Given the description of an element on the screen output the (x, y) to click on. 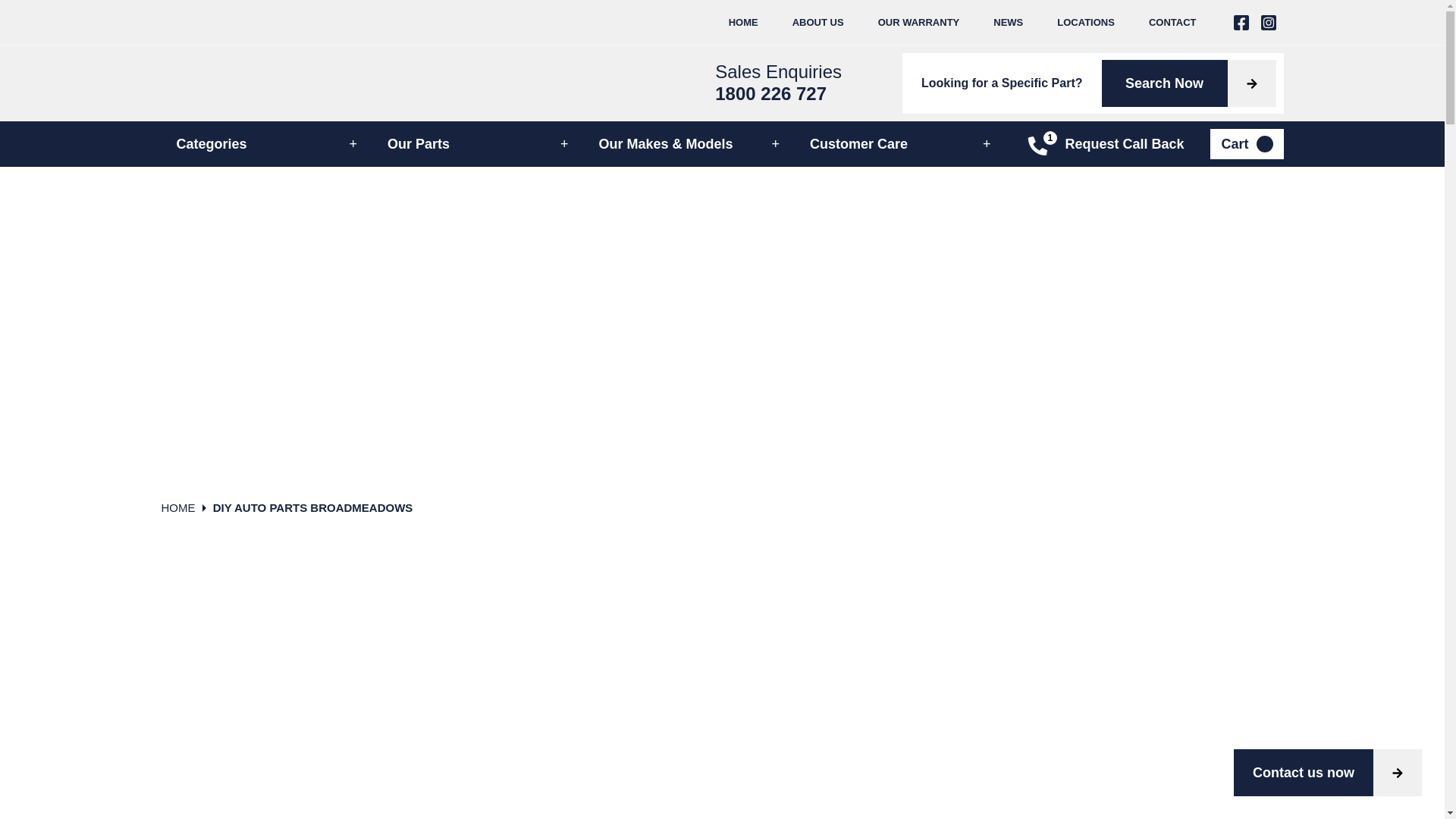
CONTACT Element type: text (1172, 22)
Sales Enquiries
1800 226 727 Element type: text (778, 83)
HOME Element type: text (743, 22)
Looking for a Specific Part? Element type: text (1001, 82)
Customer Care Element type: text (900, 143)
Search Now Element type: text (1188, 82)
Our Parts Element type: text (477, 143)
LOCATIONS Element type: text (1085, 22)
HOME Element type: text (182, 507)
ACM Parts Element type: hover (199, 83)
NEWS Element type: text (1008, 22)
Request Call Back Element type: text (1103, 143)
Cart
  Element type: text (1246, 143)
OUR WARRANTY Element type: text (918, 22)
ABOUT US Element type: text (818, 22)
Our Makes & Models Element type: text (689, 143)
Categories Element type: text (266, 143)
Contact us now Element type: text (1327, 772)
